Given the description of an element on the screen output the (x, y) to click on. 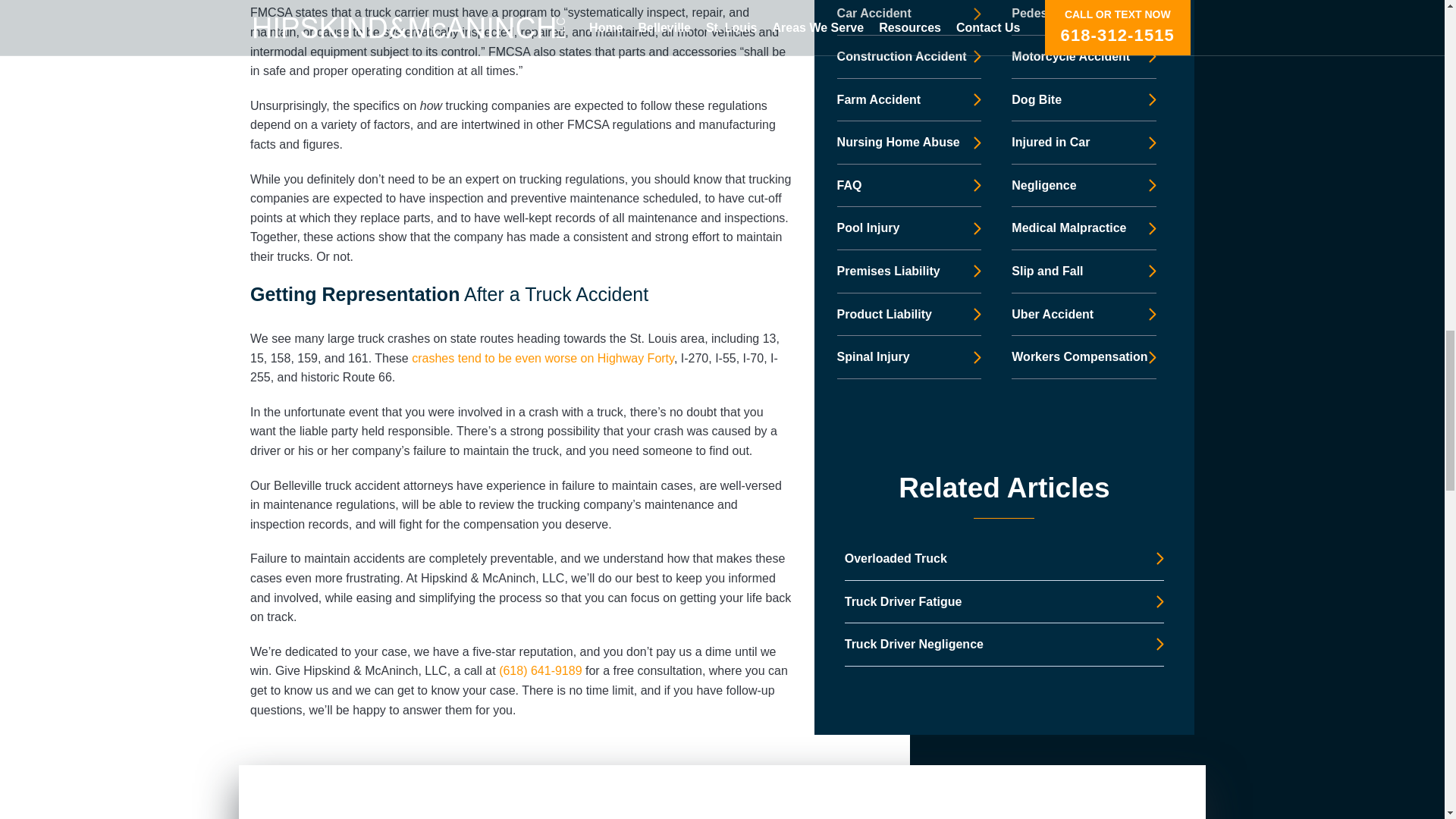
Truck Driver Negligence (1003, 526)
Truck Driver Fatigue (1003, 484)
Overloaded Truck (1003, 440)
